Given the description of an element on the screen output the (x, y) to click on. 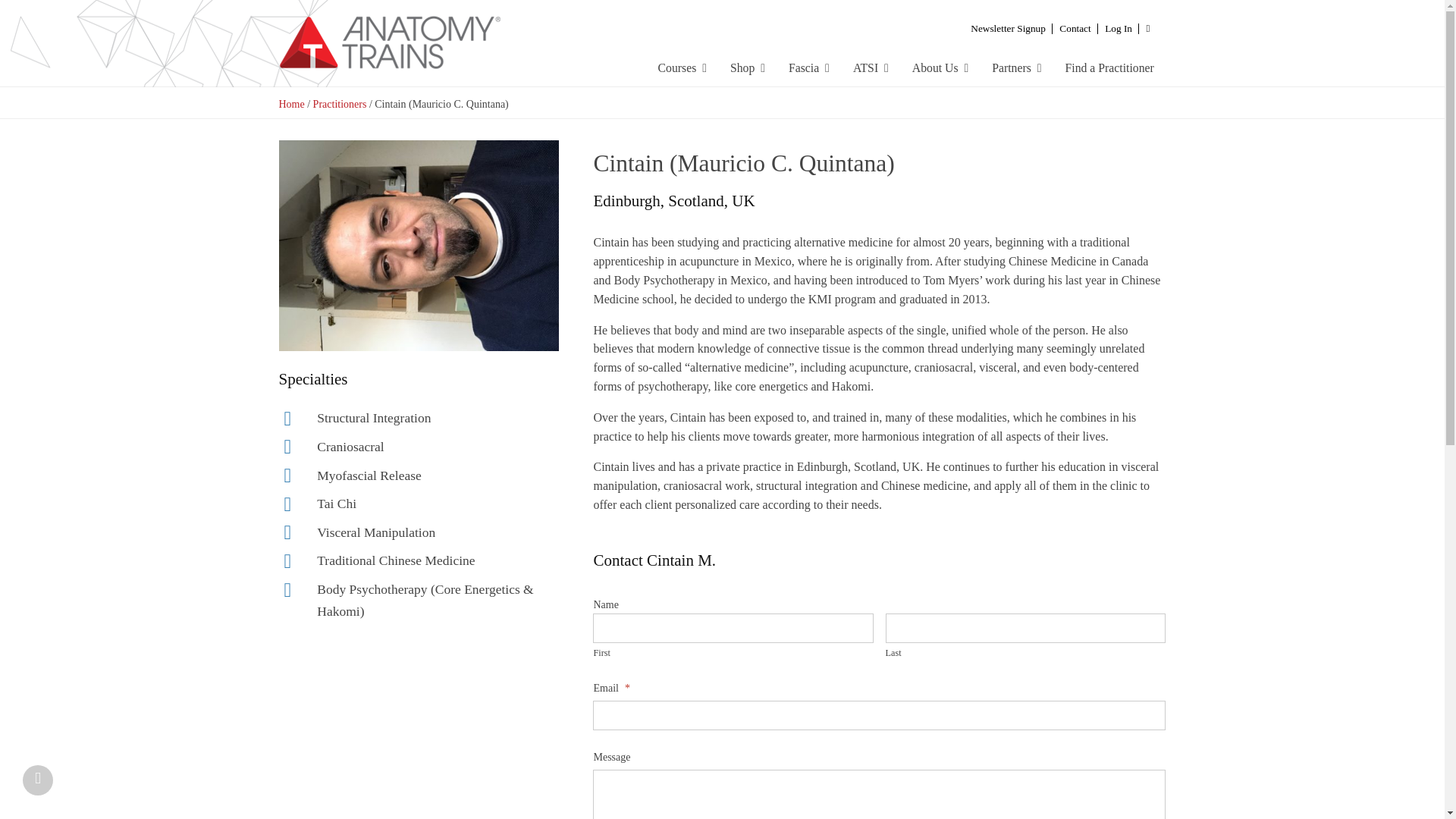
Log In (1117, 27)
Courses (682, 67)
Shop (747, 67)
Log In (1117, 27)
Contact (1074, 27)
Contact Us (1074, 27)
About Us (939, 67)
Newsletter Signup (1007, 27)
Anatomy Trains (428, 43)
Fascia (808, 67)
ATSI (870, 67)
Courses (682, 67)
Newsletter Signup (1007, 27)
